Given the description of an element on the screen output the (x, y) to click on. 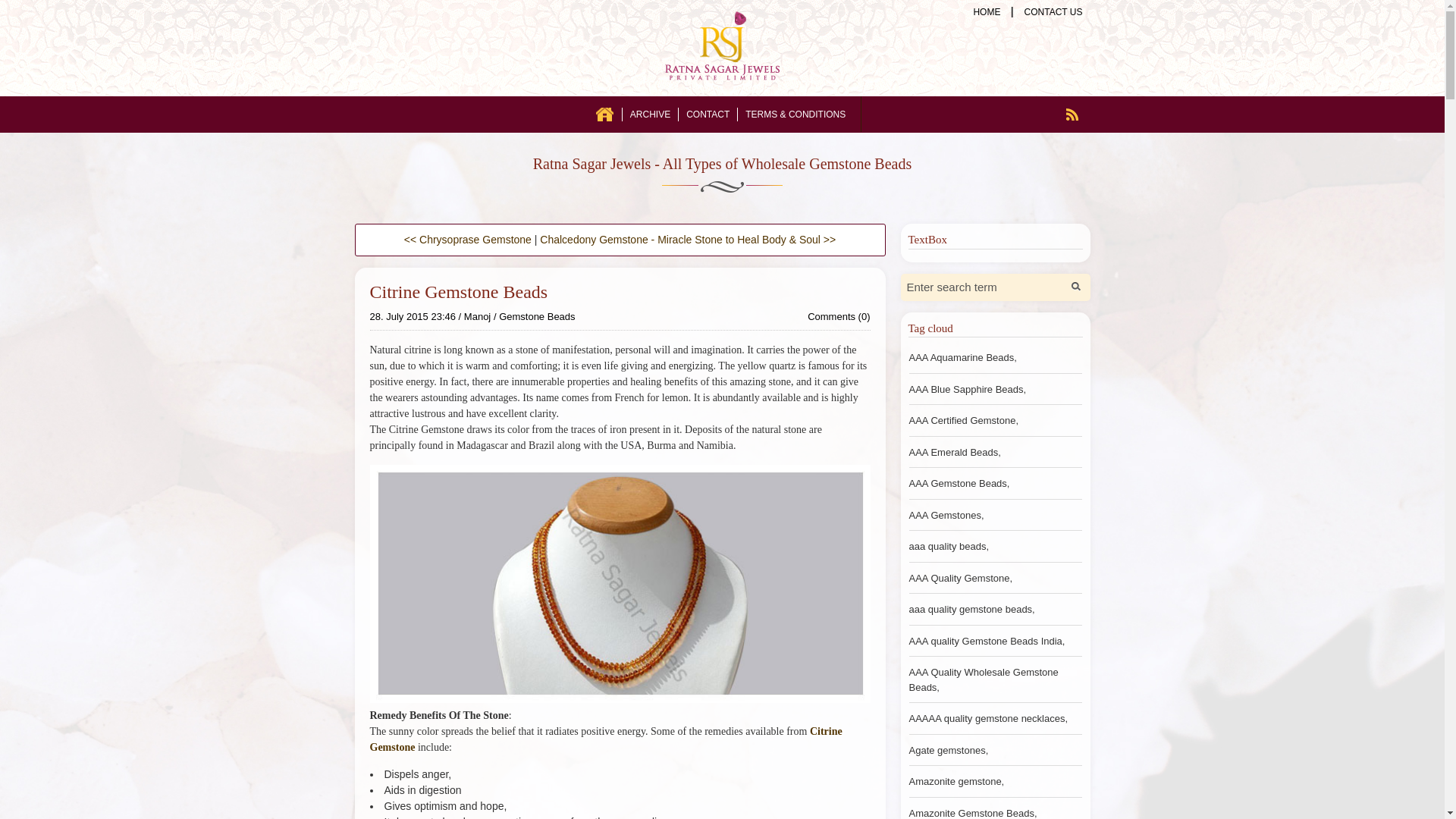
CONTACT (707, 113)
Manoj (477, 316)
Previous post (687, 239)
Subscribe (1071, 113)
Next post (467, 239)
HOME (604, 114)
HOME (987, 11)
Citrine Gemstone (606, 738)
Citrine Gemstone Beads (458, 291)
Enter search term (982, 286)
ARCHIVE (649, 113)
Ratna Sagar Jewels - All Types of Wholesale Gemstone Beads (721, 163)
Gemstone Beads (537, 316)
CONTACT US (1053, 11)
Search (1075, 286)
